Given the description of an element on the screen output the (x, y) to click on. 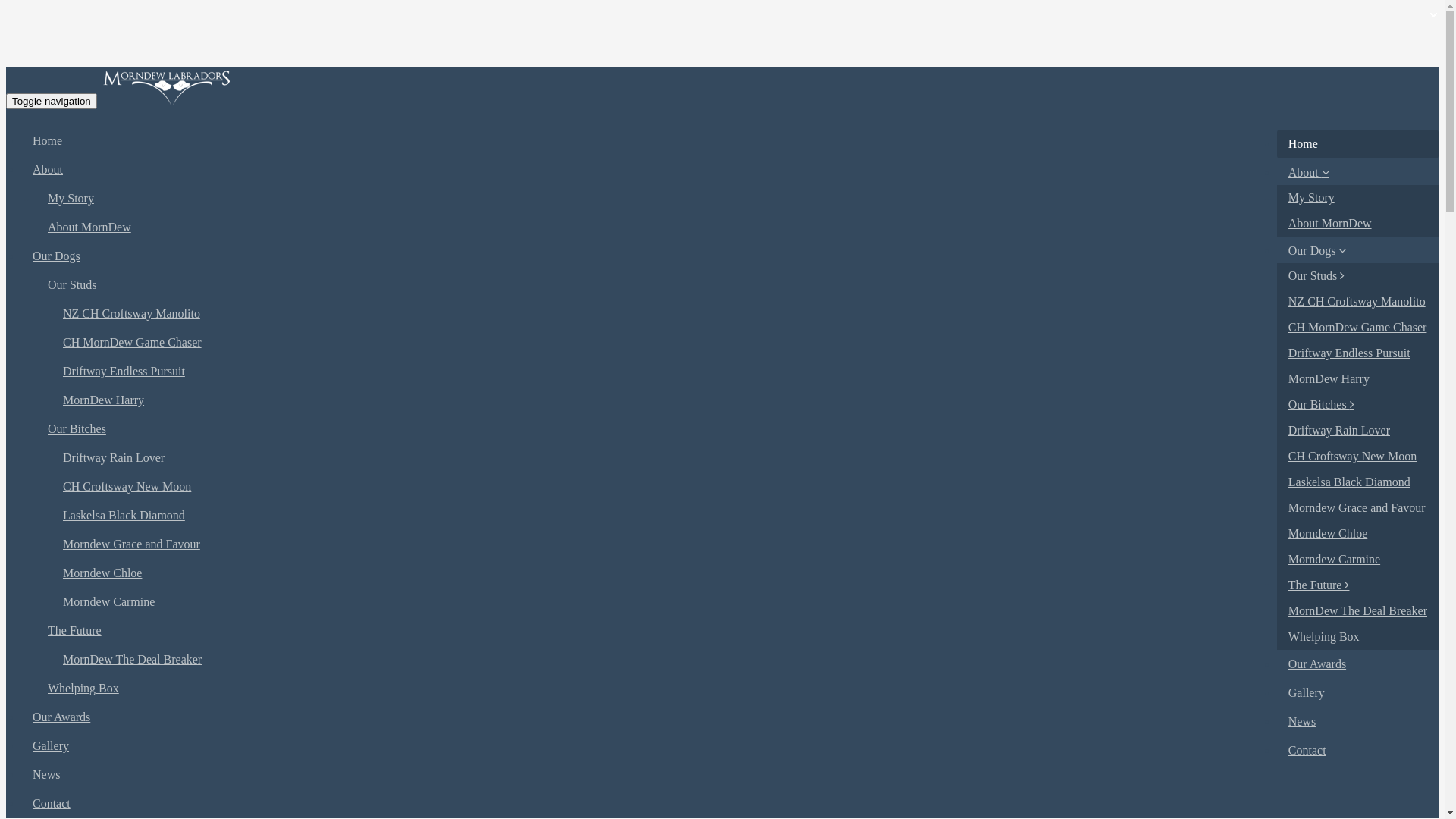
Morndew Carmine Element type: text (744, 601)
MornDew Harry Element type: text (1357, 379)
Our Awards Element type: text (729, 716)
My Story Element type: text (1357, 197)
My Story Element type: text (737, 198)
Our Dogs Element type: text (729, 255)
The Future Element type: text (1357, 585)
Driftway Endless Pursuit Element type: text (1357, 353)
The Future Element type: text (737, 630)
Morndew Grace and Favour Element type: text (744, 544)
CH MornDew Game Chaser Element type: text (1357, 327)
Our Awards Element type: text (1357, 663)
Morndew Carmine Element type: text (1357, 559)
MornDew Harry Element type: text (744, 399)
News Element type: text (1357, 721)
Gallery Element type: text (729, 745)
News Element type: text (729, 774)
MornDew The Deal Breaker Element type: text (1357, 611)
CH Croftsway New Moon Element type: text (1357, 456)
Laskelsa Black Diamond Element type: text (744, 515)
Morndew Grace and Favour Element type: text (1357, 507)
Driftway Rain Lover Element type: text (1357, 430)
About MornDew Element type: text (737, 227)
Gallery Element type: text (1357, 692)
MornDew The Deal Breaker Element type: text (744, 659)
Morndew Chloe Element type: text (1357, 533)
Whelping Box Element type: text (1357, 636)
Laskelsa Black Diamond Element type: text (1357, 482)
Contact Element type: text (729, 803)
Morndew Chloe Element type: text (744, 572)
Our Studs Element type: text (737, 284)
Home Element type: text (729, 140)
NZ CH Croftsway Manolito Element type: text (744, 313)
CH Croftsway New Moon Element type: text (744, 486)
Toggle navigation Element type: text (51, 101)
CH MornDew Game Chaser Element type: text (744, 342)
Driftway Endless Pursuit Element type: text (744, 371)
Whelping Box Element type: text (737, 688)
Our Dogs Element type: text (1357, 250)
About MornDew Element type: text (1357, 223)
Home Element type: text (1357, 143)
Our Bitches Element type: text (1357, 404)
About Element type: text (729, 169)
Our Studs Element type: text (1357, 275)
Our Bitches Element type: text (737, 428)
NZ CH Croftsway Manolito Element type: text (1357, 301)
Contact Element type: text (1357, 750)
About Element type: text (1357, 172)
Driftway Rain Lover Element type: text (744, 457)
